Given the description of an element on the screen output the (x, y) to click on. 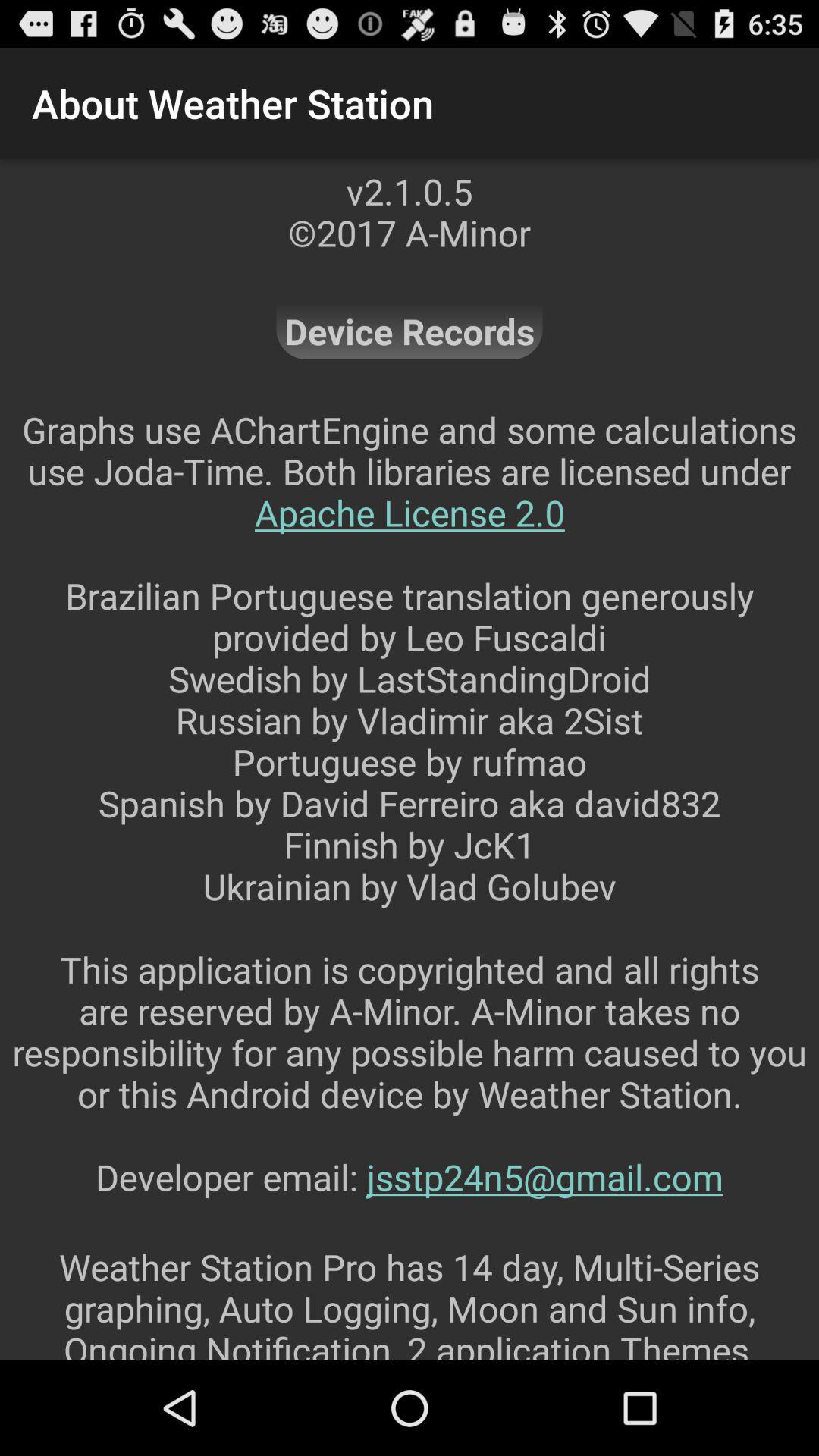
scroll to graphs use achartengine item (409, 823)
